Given the description of an element on the screen output the (x, y) to click on. 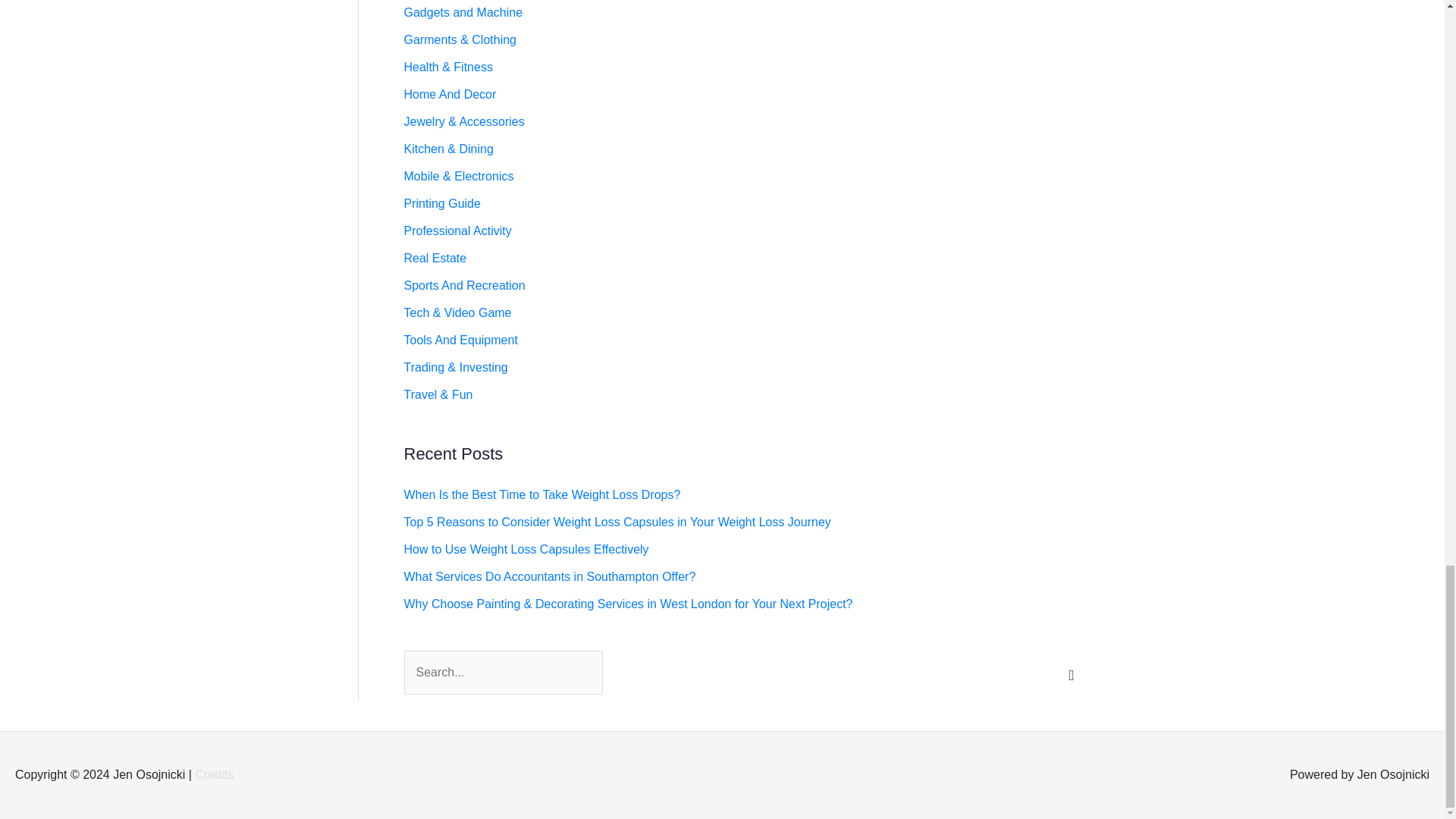
Real Estate (434, 257)
When Is the Best Time to Take Weight Loss Drops? (541, 494)
What Services Do Accountants in Southampton Offer? (549, 576)
How to Use Weight Loss Capsules Effectively (525, 549)
Tools And Equipment (459, 339)
Printing Guide (441, 203)
Gadgets and Machine (462, 11)
Professional Activity (457, 230)
Sports And Recreation (463, 285)
